Given the description of an element on the screen output the (x, y) to click on. 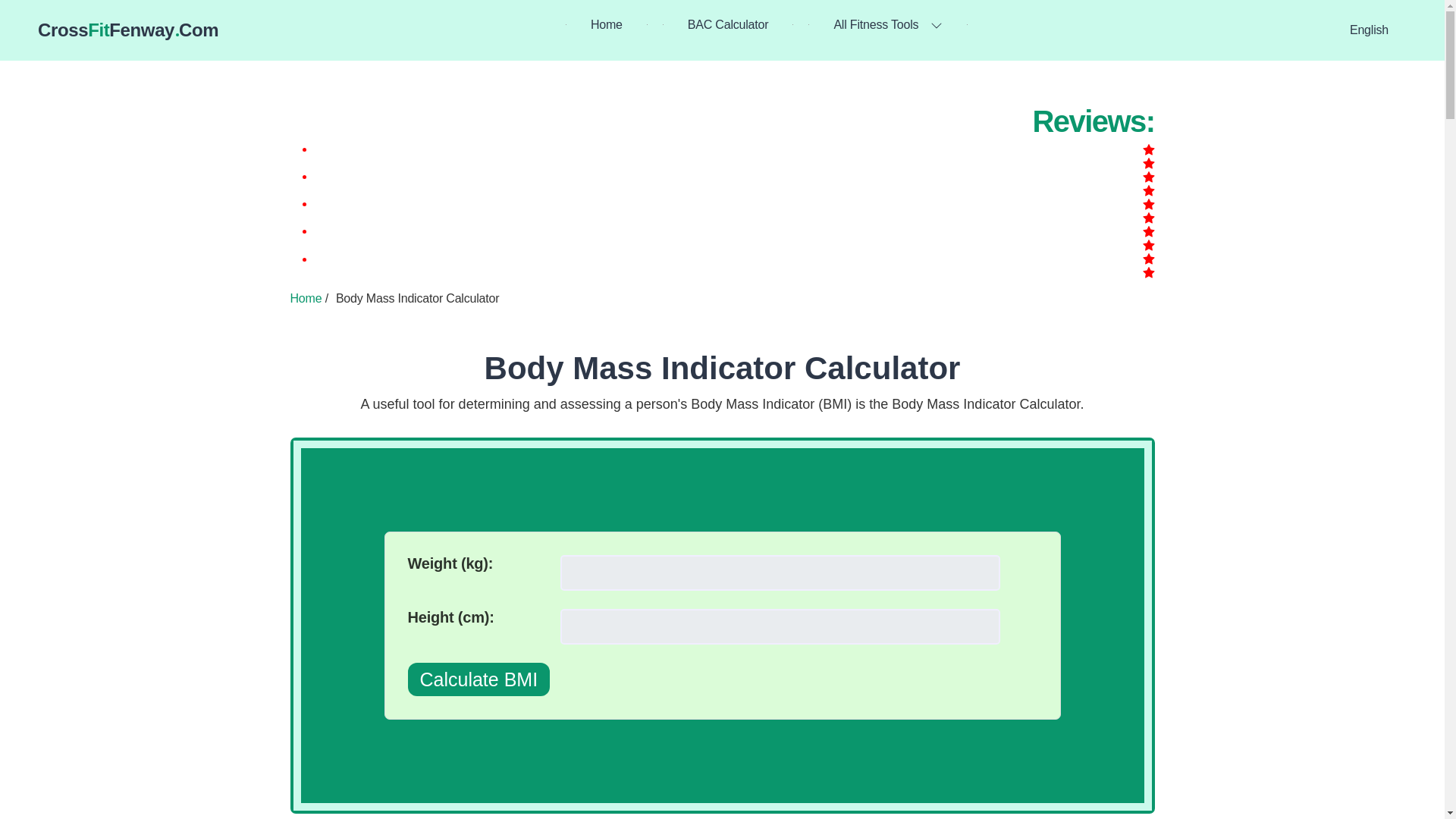
BAC Calculator (727, 24)
Home (607, 24)
Body Mass Indicator Calculator (722, 367)
Home (305, 297)
Calculate BMI (127, 30)
how to make a pdf a link (478, 679)
